Given the description of an element on the screen output the (x, y) to click on. 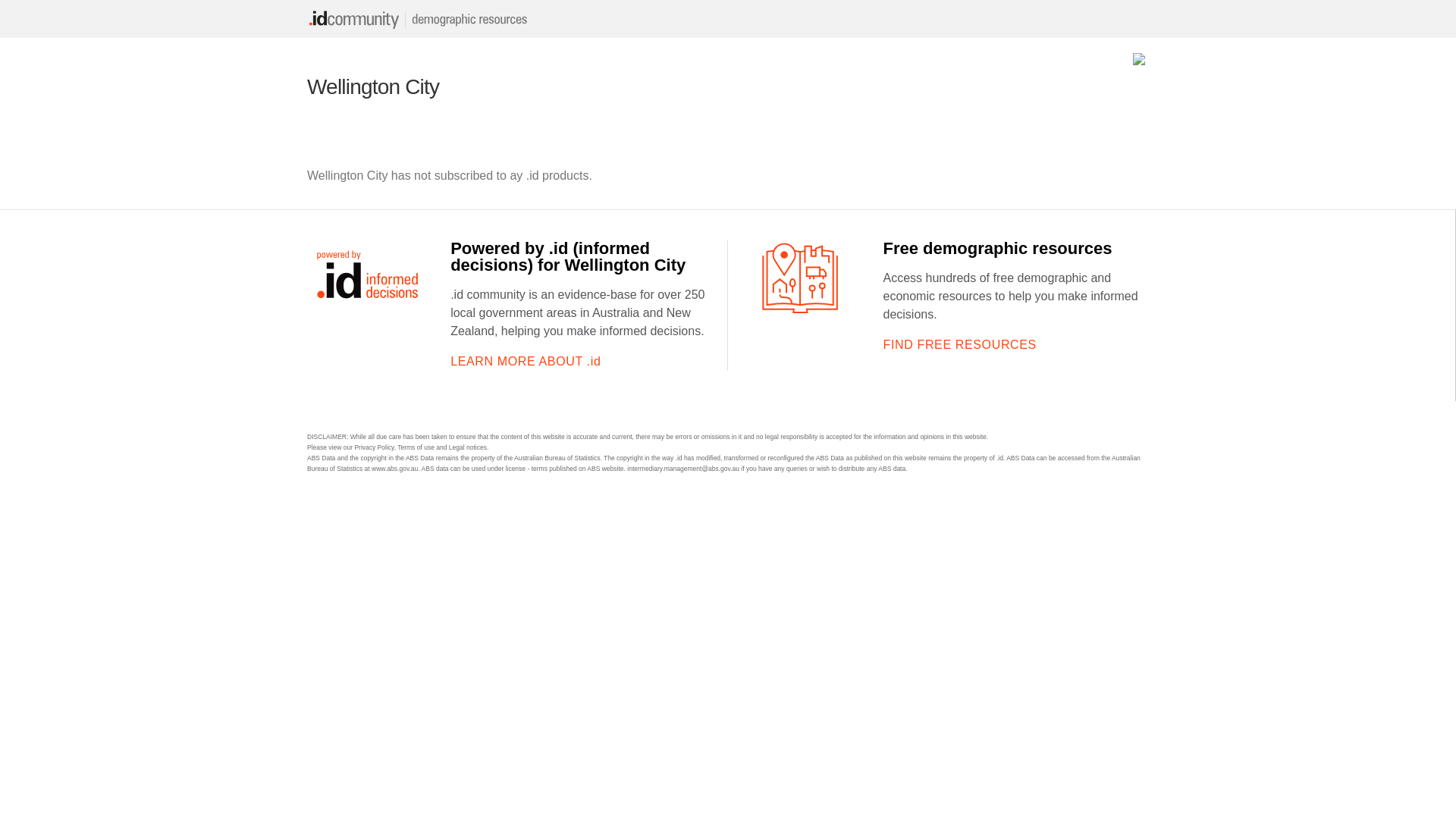
intermediary.management@abs.gov.au Element type: text (683, 468)
idc-logo Element type: text (420, 18)
Legal notices Element type: text (467, 447)
FIND FREE RESOURCES Element type: text (958, 344)
LEARN MORE ABOUT .id Element type: text (525, 360)
www.abs.gov.au Element type: text (394, 468)
Terms of use Element type: text (415, 447)
Privacy Policy Element type: text (373, 447)
